Given the description of an element on the screen output the (x, y) to click on. 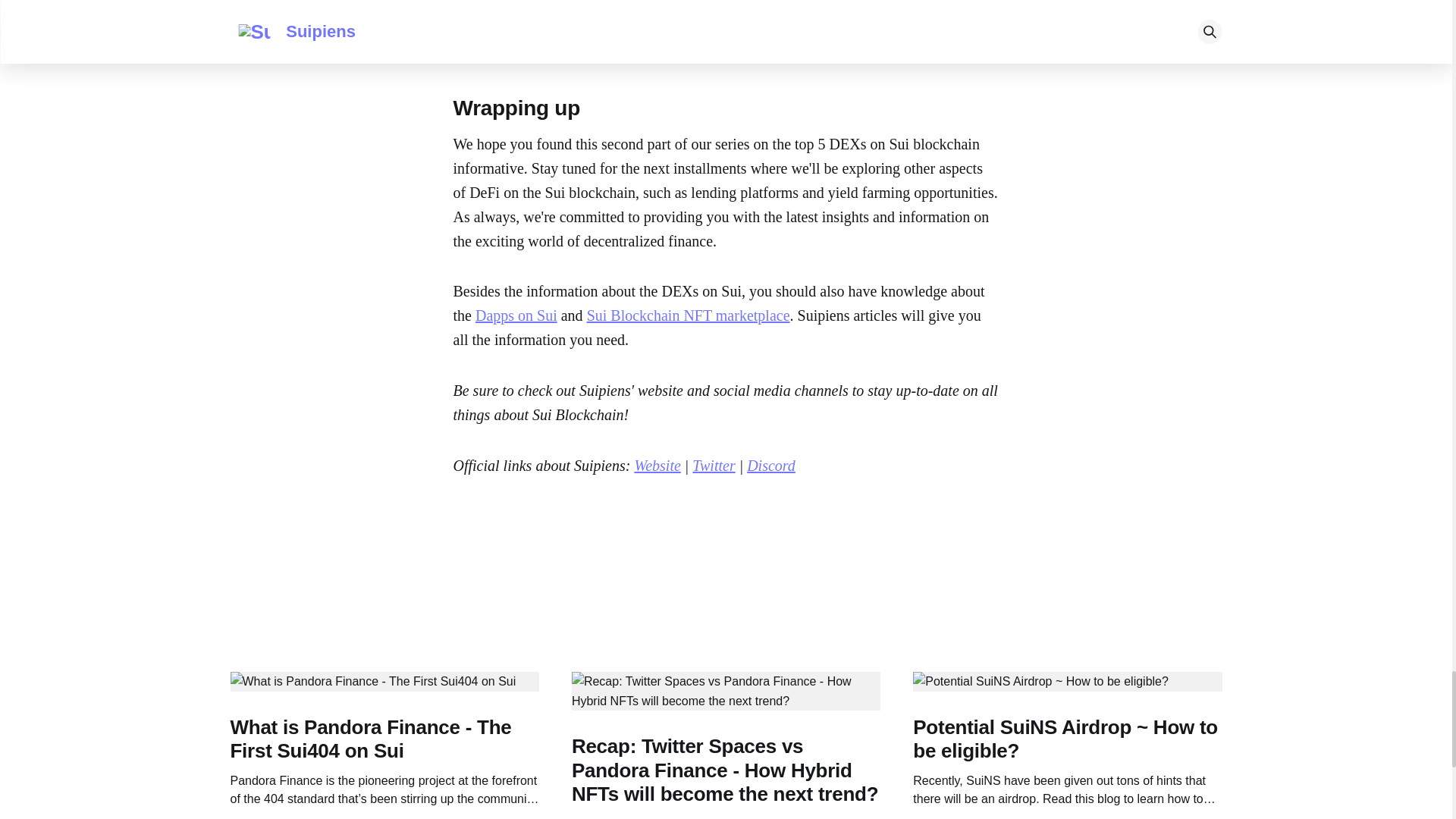
Twitter (714, 465)
Dapps on Sui (516, 315)
Twitter (602, 41)
Discord (718, 41)
Sui Blockchain NFT marketplace (688, 315)
Website (656, 465)
Discord (770, 465)
Website (659, 41)
